Given the description of an element on the screen output the (x, y) to click on. 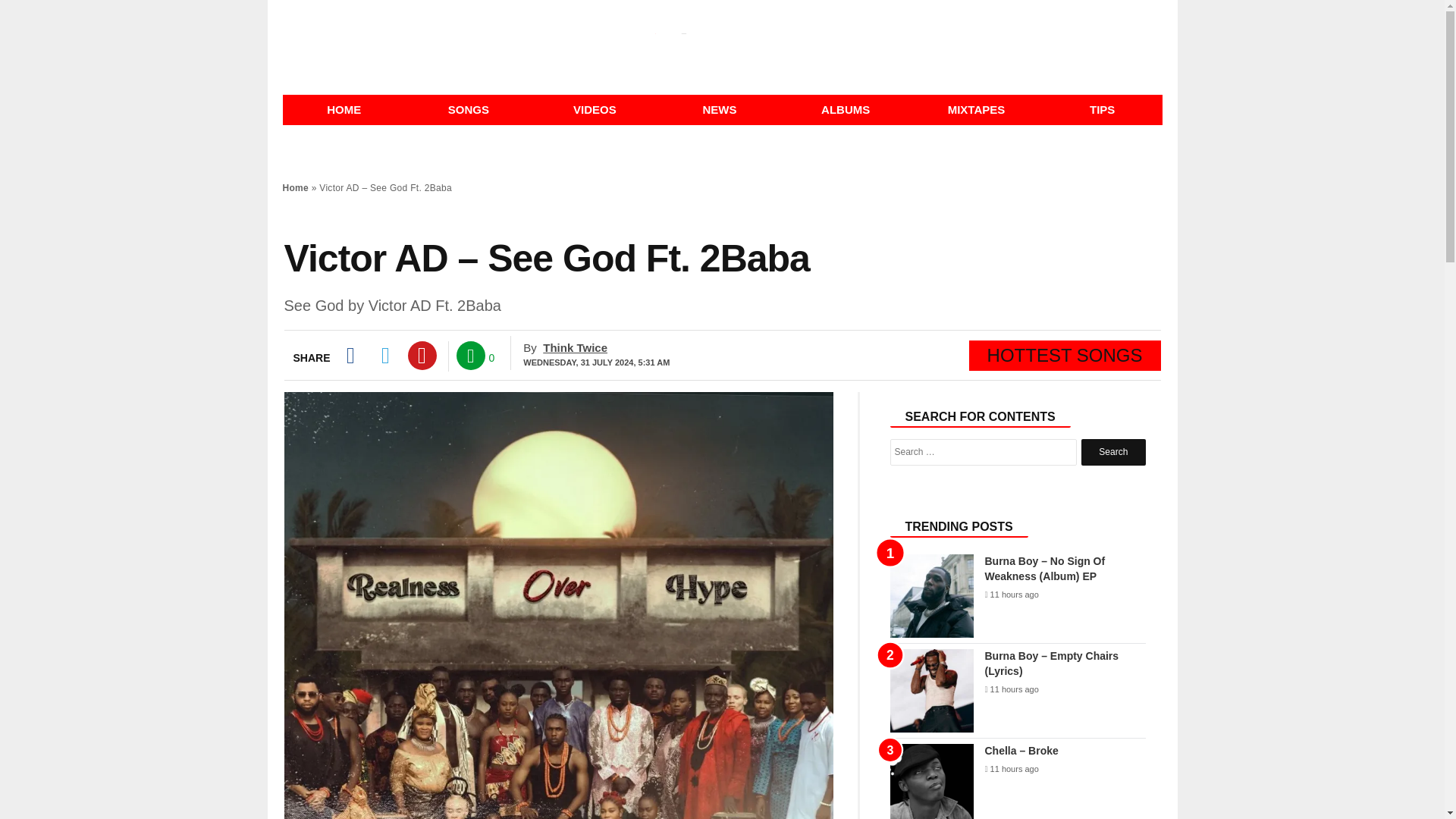
News (719, 110)
Home (343, 110)
Facebook (349, 355)
Comments (470, 355)
NEWS (719, 110)
Songs (468, 110)
Think Twice (575, 347)
pinterest (421, 355)
HOME (343, 110)
Home (295, 187)
VIDEOS (594, 110)
Twitter (385, 355)
SONGS (468, 110)
Videos (594, 110)
